Given the description of an element on the screen output the (x, y) to click on. 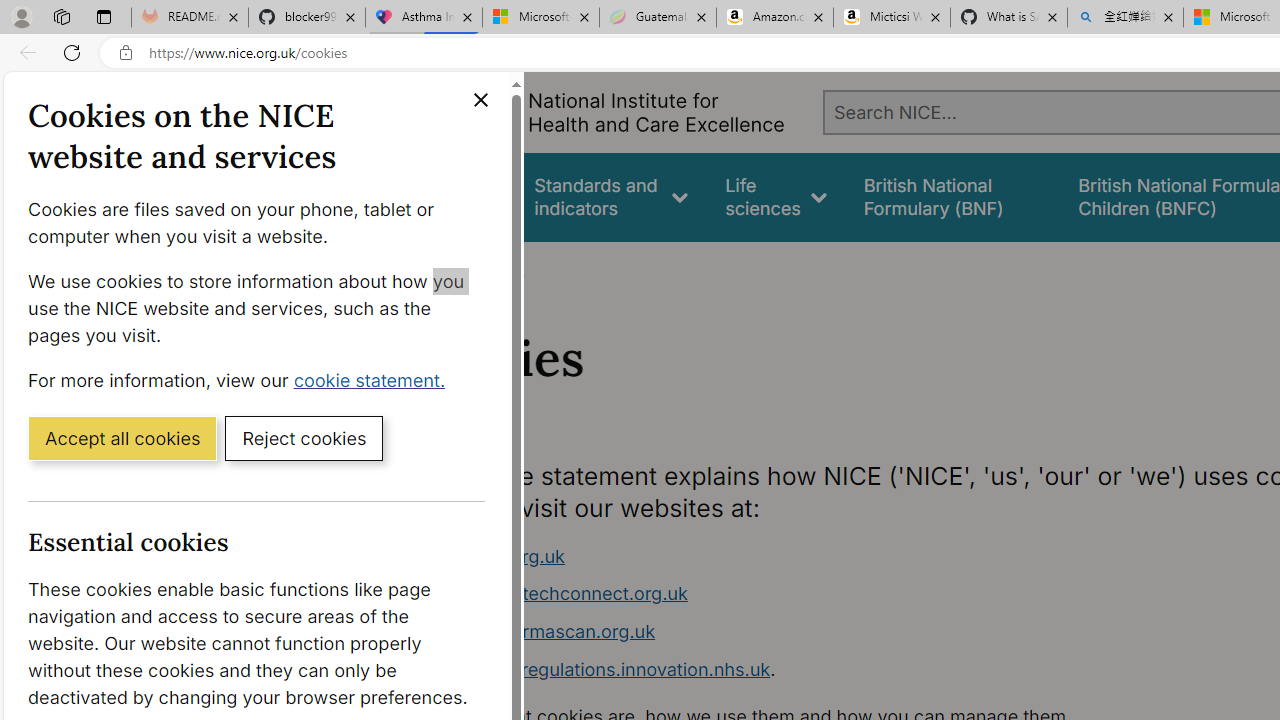
cookie statement. (Opens in a new window) (373, 379)
Accept all cookies (122, 437)
Reject cookies (304, 437)
false (952, 196)
Microsoft-Report a Concern to Bing (540, 17)
www.ukpharmascan.org.uk (538, 631)
Home> (433, 268)
www.digitalregulations.innovation.nhs.uk. (796, 669)
Close cookie banner (480, 99)
Personal Profile (21, 16)
